Given the description of an element on the screen output the (x, y) to click on. 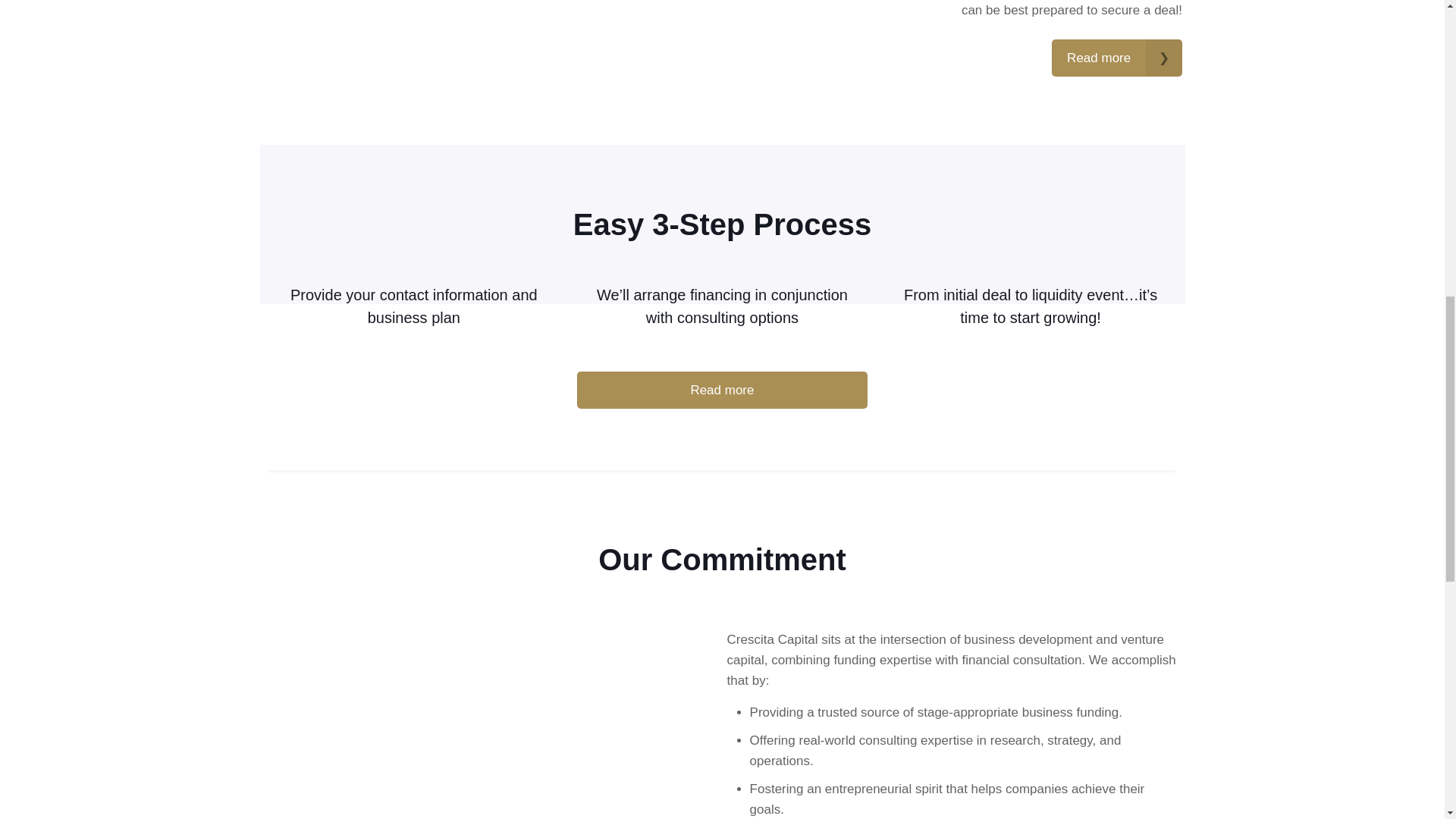
Read more (721, 389)
Read more (1116, 57)
